Given the description of an element on the screen output the (x, y) to click on. 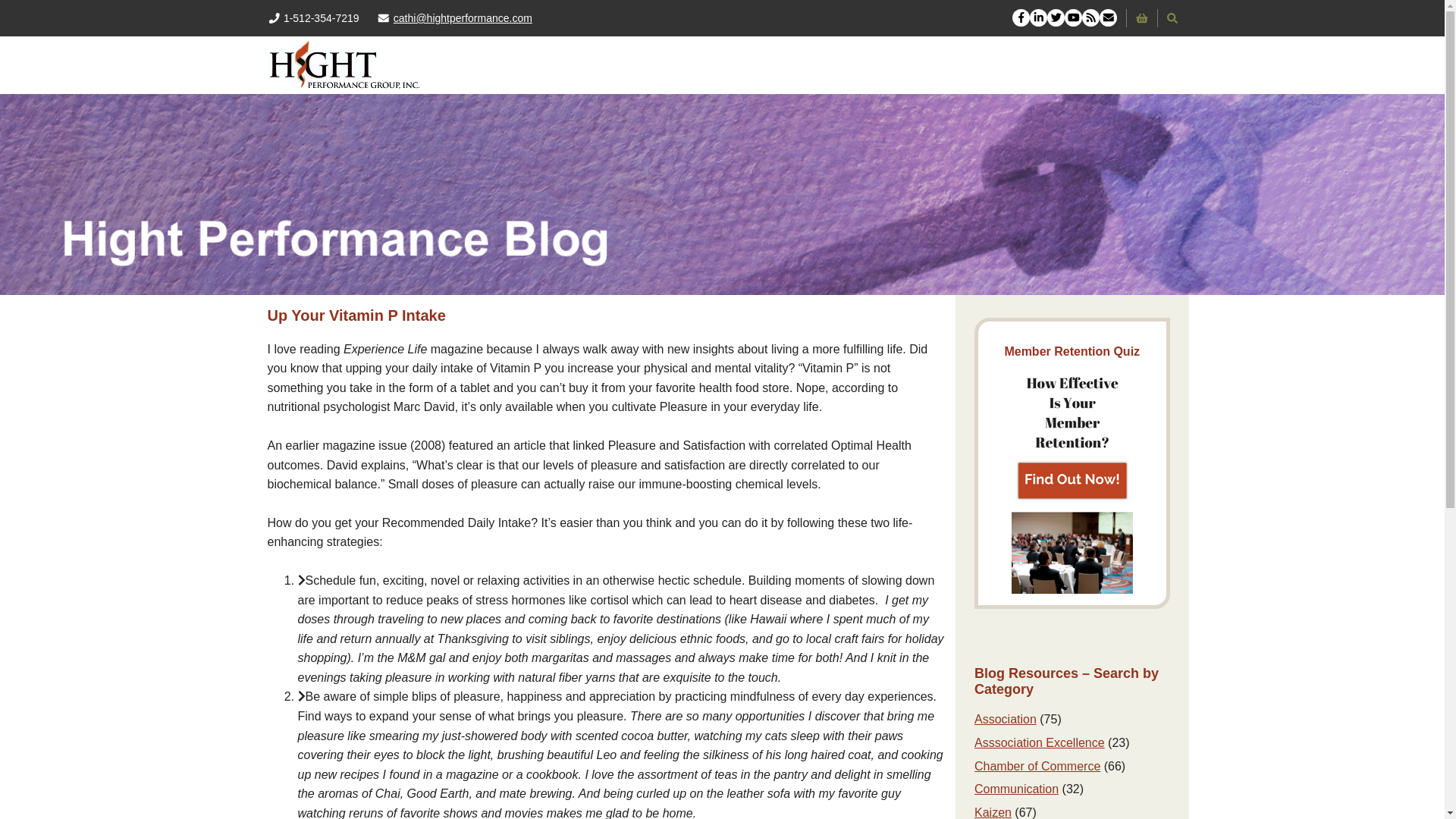
Hight Performance (344, 63)
Kaizen (992, 812)
Chamber of Commerce (1037, 766)
Association (1005, 718)
Asssociation Excellence (1039, 742)
Communication (1016, 788)
